Given the description of an element on the screen output the (x, y) to click on. 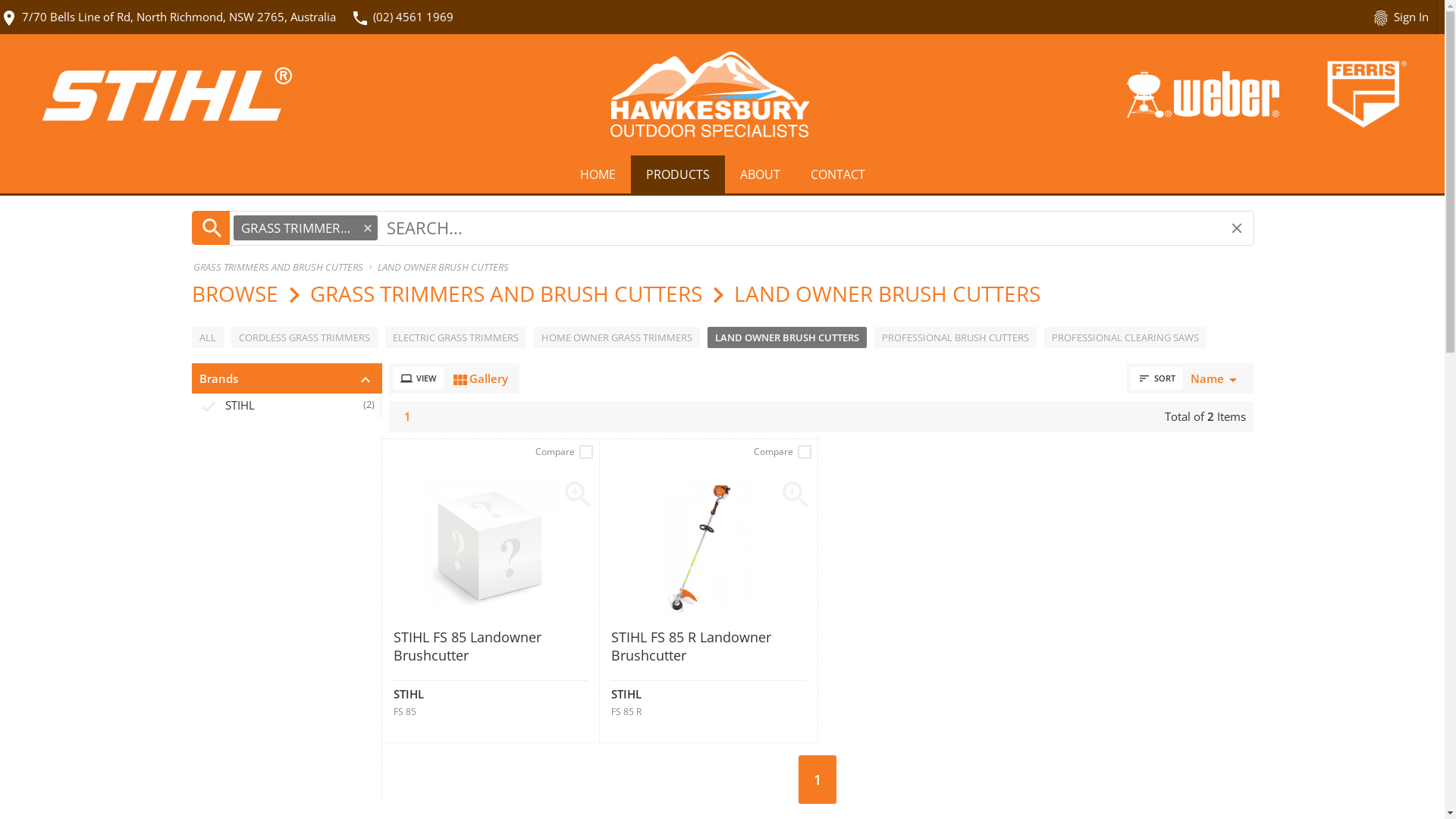
done
STIHL
(2) Element type: text (286, 404)
ABOUT Element type: text (759, 174)
STIHL FS 85 Landowner Brushcutter Element type: text (489, 653)
CONTACT Element type: text (836, 174)
1 Element type: text (816, 779)
STIHL Element type: text (626, 696)
PRODUCTS Element type: text (677, 174)
HOME Element type: text (597, 174)
Namearrow_drop_down Element type: text (1216, 378)
ELECTRIC GRASS TRIMMERS Element type: text (455, 337)
(02) 4561 1969 Element type: text (413, 16)
STIHL FS 85 R Landowner Brushcutter Element type: text (708, 653)
view_moduleGallery Element type: text (478, 378)
LAND OWNER BRUSH CUTTERS Element type: text (786, 337)
BROWSE Element type: text (234, 293)
STIHL Element type: text (407, 696)
1 Element type: text (406, 415)
CORDLESS GRASS TRIMMERS Element type: text (303, 337)
PROFESSIONAL BRUSH CUTTERS Element type: text (954, 337)
HOME OWNER GRASS TRIMMERS Element type: text (616, 337)
ALL Element type: text (206, 337)
PROFESSIONAL CLEARING SAWS Element type: text (1124, 337)
